Given the description of an element on the screen output the (x, y) to click on. 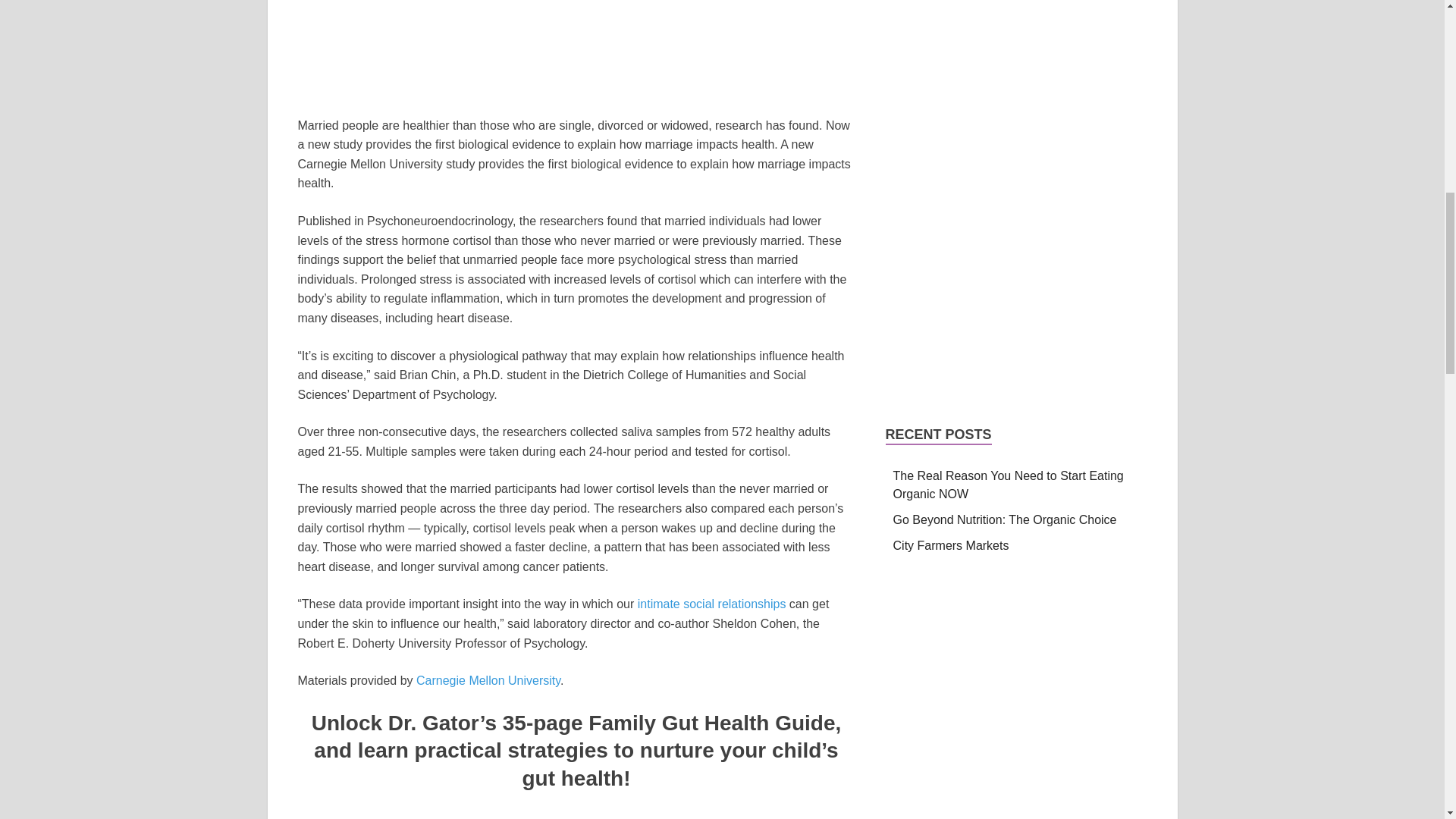
Click here (576, 817)
intimate social relationships (709, 603)
Carnegie Mellon University (488, 680)
